Given the description of an element on the screen output the (x, y) to click on. 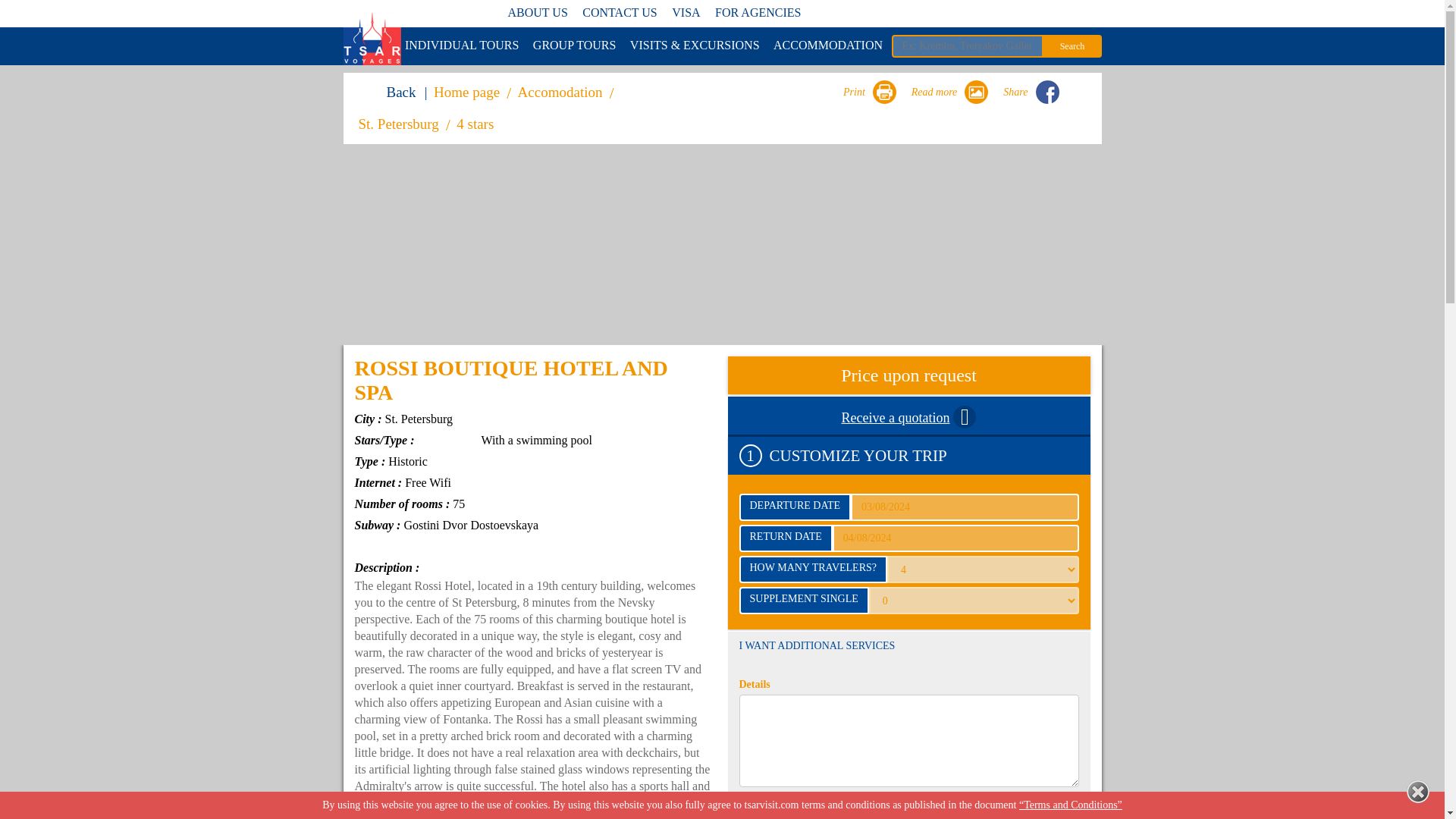
Italiano (1058, 12)
ABOUT US (537, 12)
GROUP TOURS (574, 46)
Deutsch (1029, 12)
CONTACT US (619, 12)
Search (1072, 46)
INDIVIDUAL TOURS (461, 46)
English (939, 13)
FOR AGENCIES (757, 12)
Home page (470, 92)
Back (391, 92)
ACCOMMODATION (827, 46)
Facebook (1047, 92)
